Given the description of an element on the screen output the (x, y) to click on. 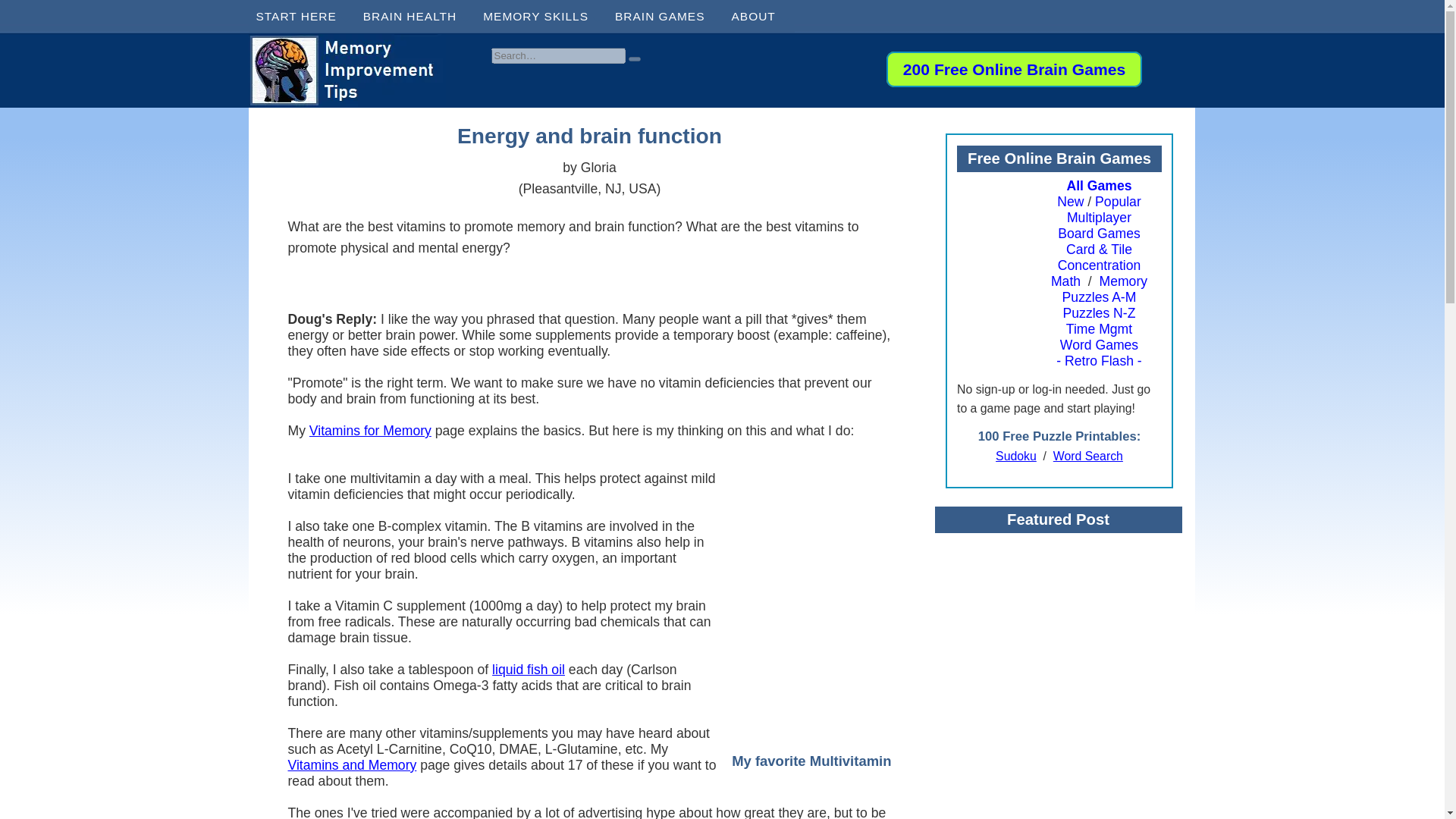
BRAIN GAMES (665, 16)
MEMORY SKILLS (541, 16)
START HERE (301, 16)
BRAIN HEALTH (415, 16)
ABOUT (758, 16)
Play Free Anytime (1013, 67)
